Given the description of an element on the screen output the (x, y) to click on. 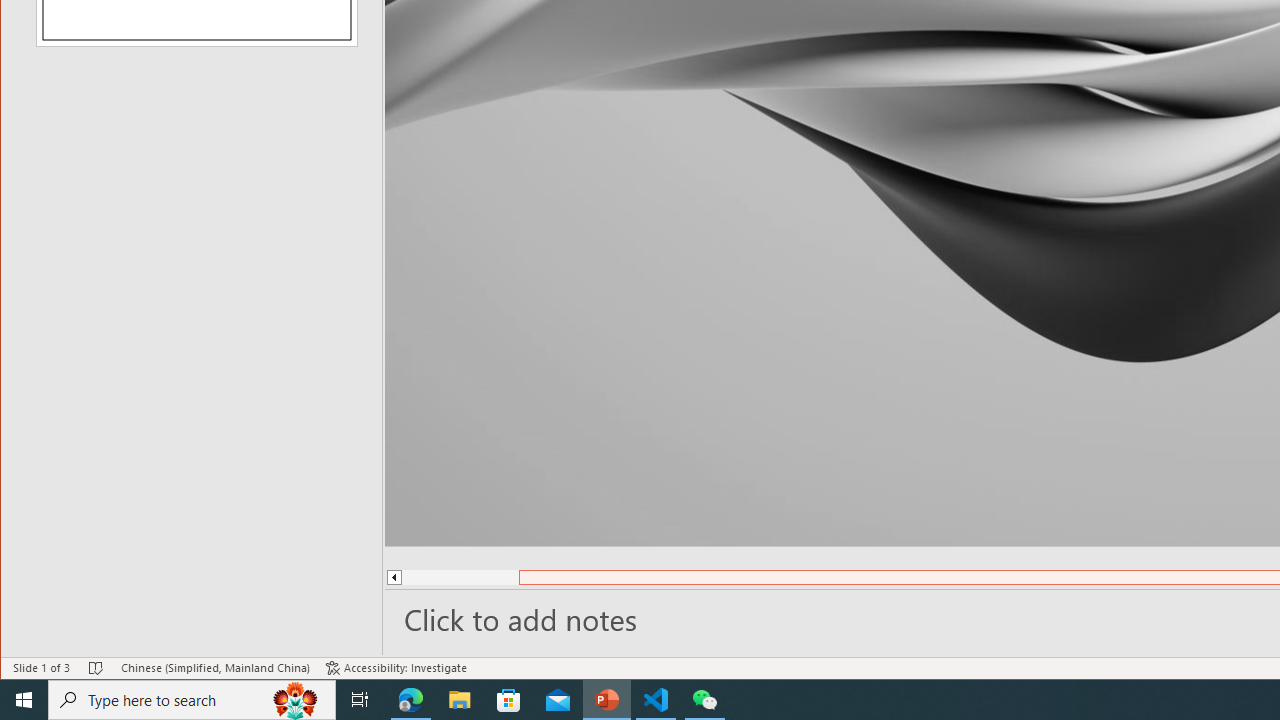
WeChat - 1 running window (704, 699)
